Given the description of an element on the screen output the (x, y) to click on. 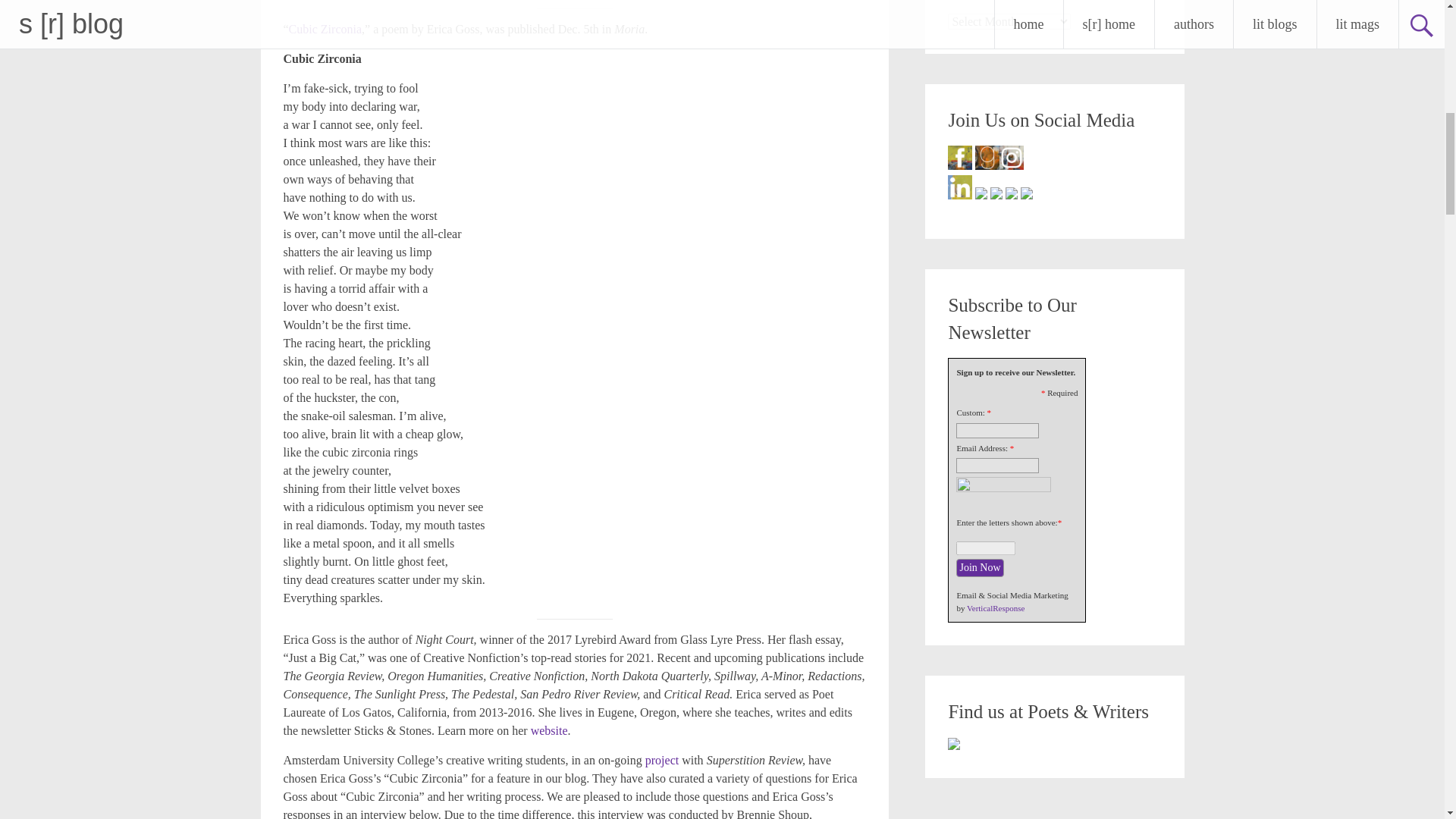
project (661, 759)
Join Now (979, 566)
Cubic Zirconia (324, 29)
Superstition Review on Instagram (1010, 157)
website (549, 730)
